Given the description of an element on the screen output the (x, y) to click on. 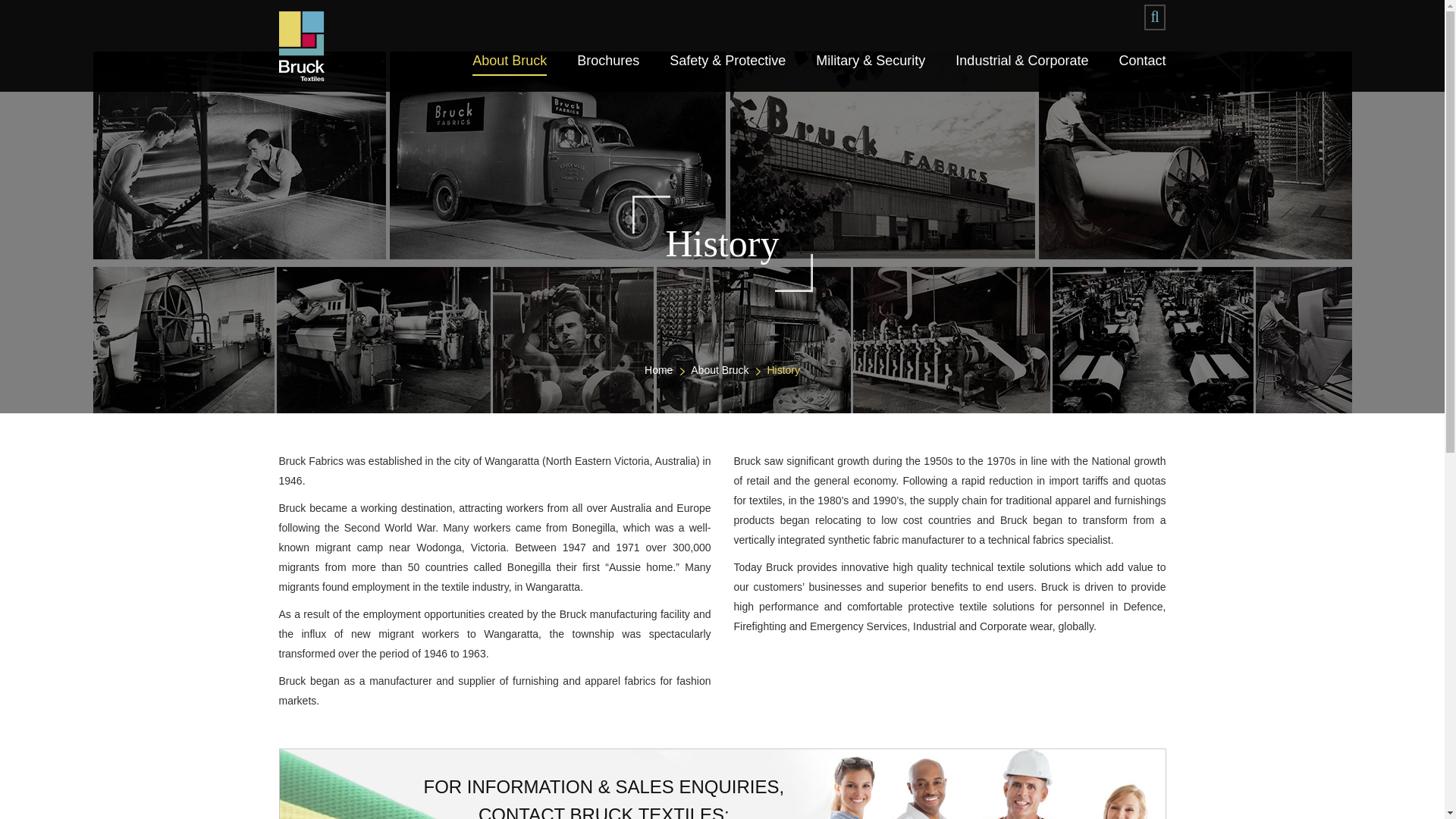
Brochures (607, 61)
Home (658, 369)
Bruck Textiles (301, 45)
Brochures (607, 61)
About Bruck (719, 369)
Contact (1142, 61)
About Bruck (509, 62)
About Bruck (509, 62)
